Given the description of an element on the screen output the (x, y) to click on. 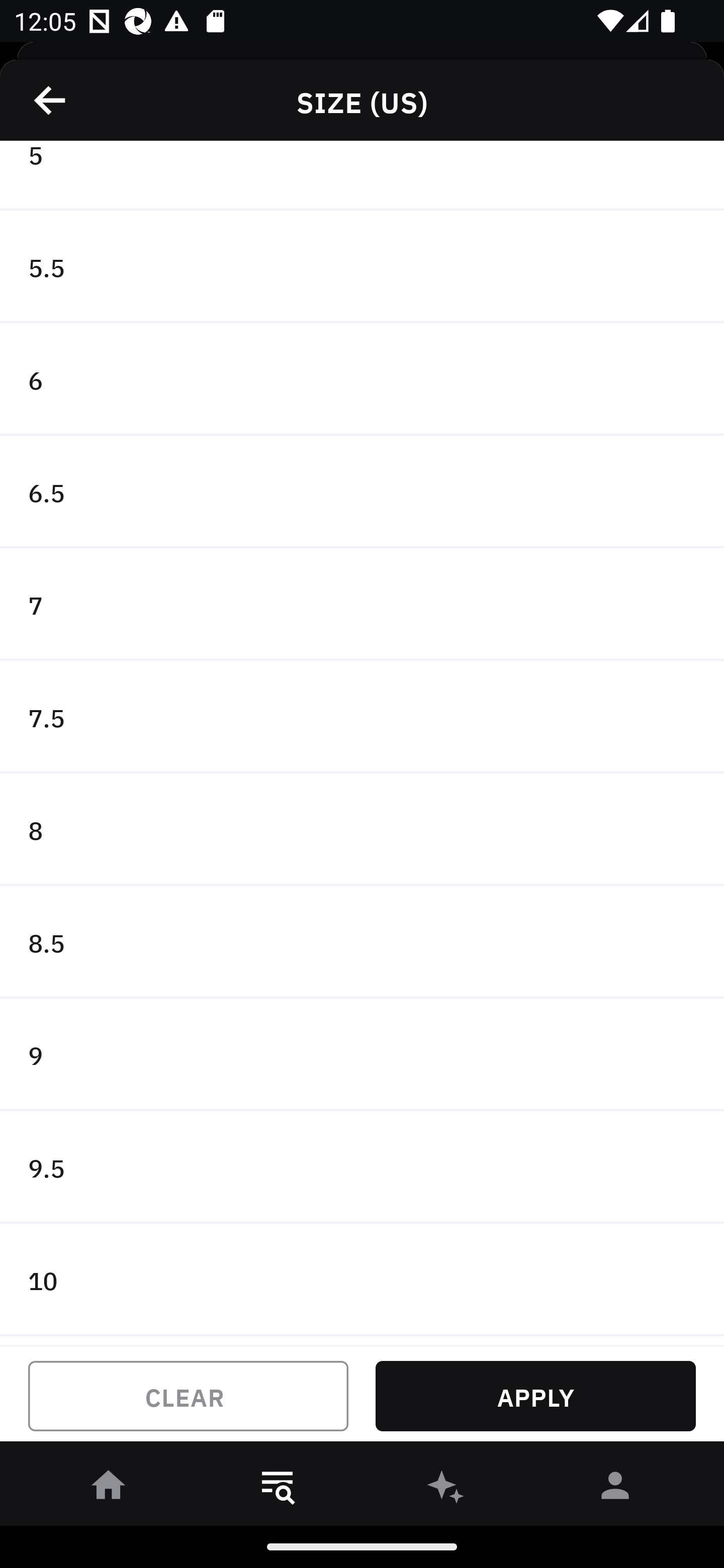
 (50, 100)
5 (362, 175)
5.5 (362, 266)
6 (362, 379)
6.5 (362, 491)
7 (362, 604)
7.5 (362, 716)
8 (362, 829)
8.5 (362, 941)
9 (362, 1054)
9.5 (362, 1167)
10 (362, 1279)
CLEAR  (188, 1396)
APPLY (535, 1396)
󰋜 (108, 1488)
󱎸 (277, 1488)
󰫢 (446, 1488)
󰀄 (615, 1488)
